Given the description of an element on the screen output the (x, y) to click on. 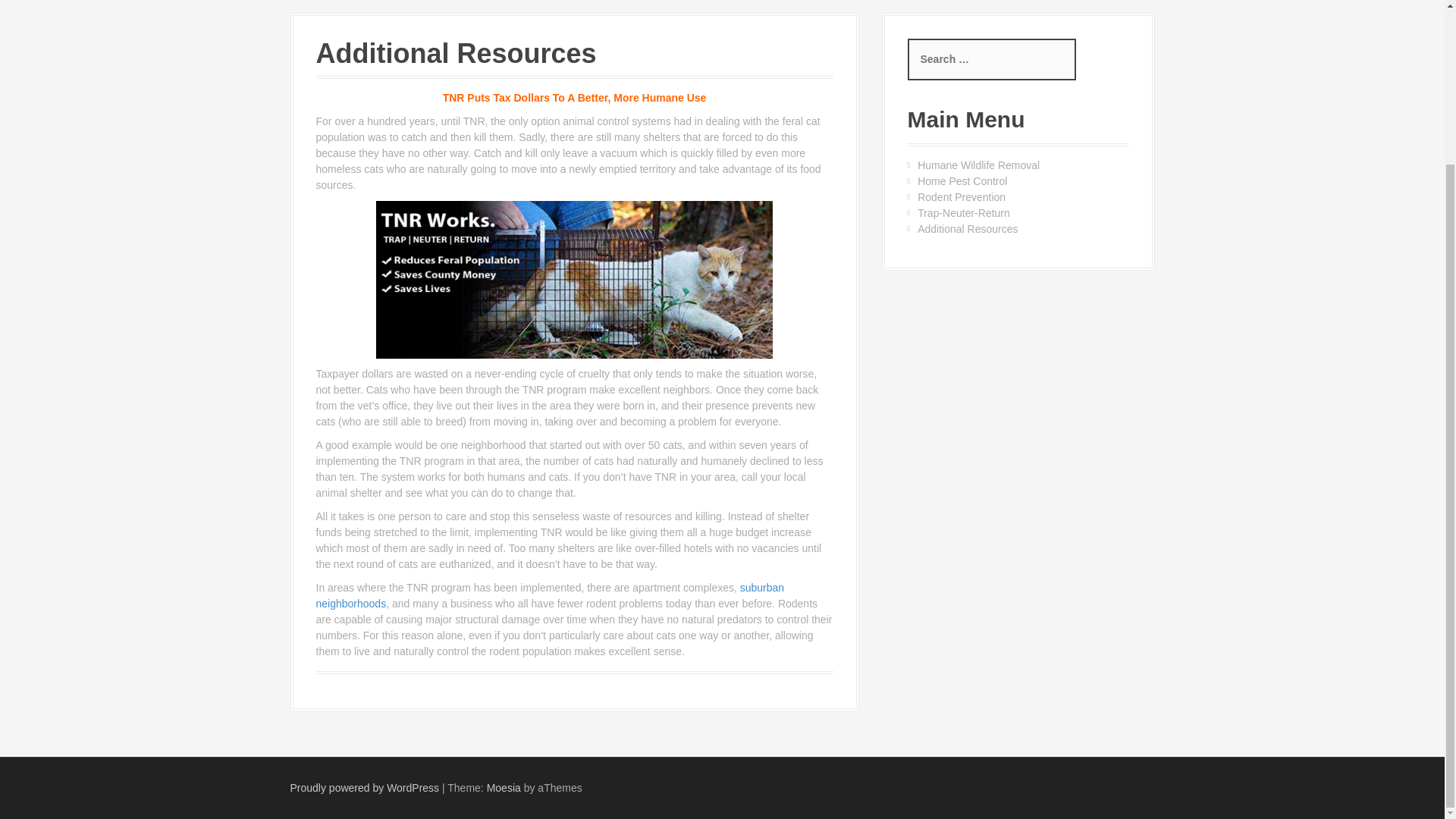
Proudly powered by WordPress (364, 787)
Moesia (503, 787)
suburban neighborhoods (549, 595)
Search for: (991, 59)
Trap-Neuter-Return (963, 213)
Humane Wildlife Removal (978, 164)
Home Pest Control (962, 181)
Additional Resources (967, 228)
Rodent Prevention (961, 196)
